Given the description of an element on the screen output the (x, y) to click on. 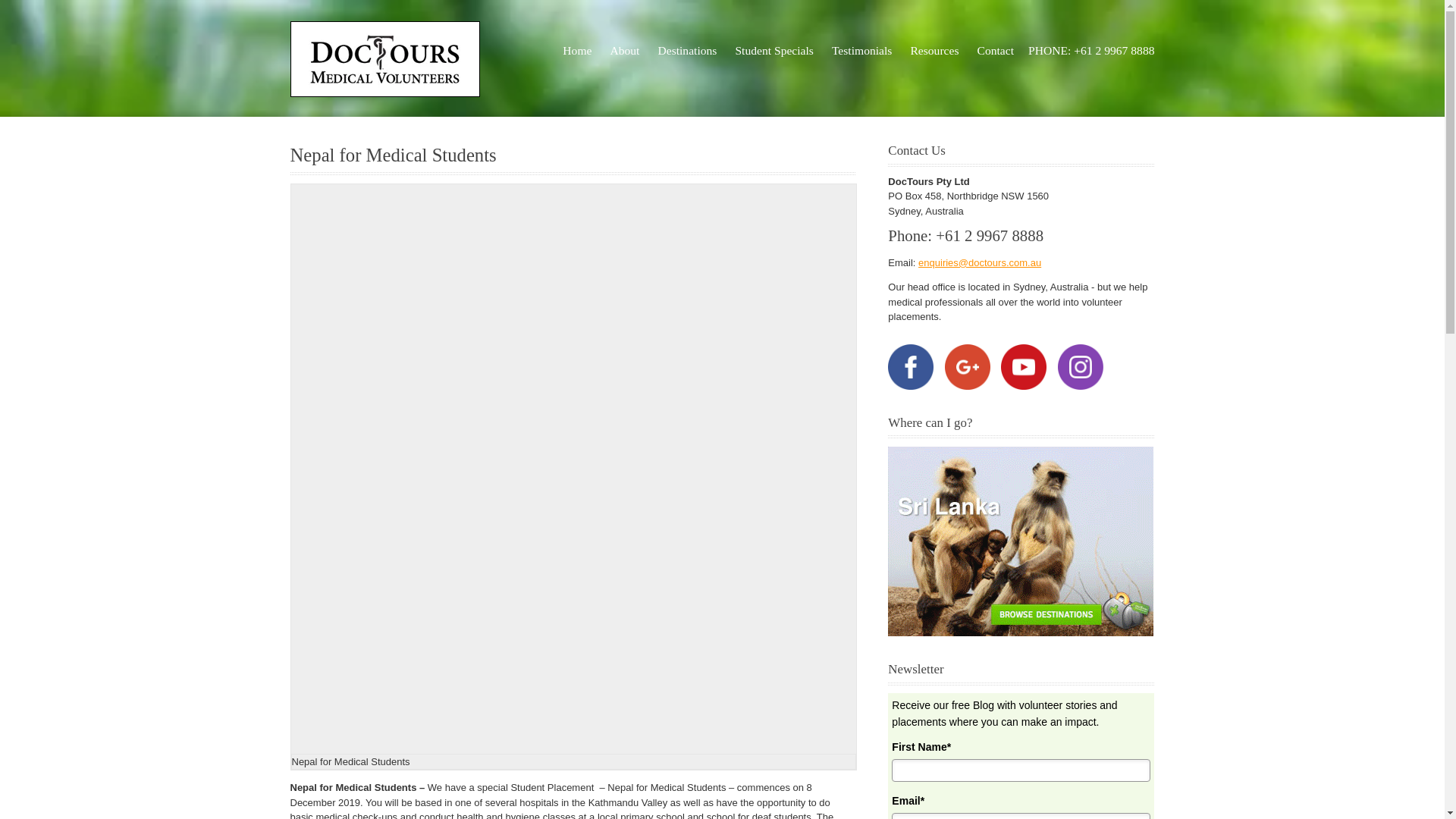
Who are DocTours? (624, 50)
Contact (996, 50)
Home (577, 50)
Nepal for Medical Students (392, 154)
Destinations (686, 50)
Testimonials (861, 50)
Student Specials (774, 50)
About (624, 50)
Resources (933, 50)
